Given the description of an element on the screen output the (x, y) to click on. 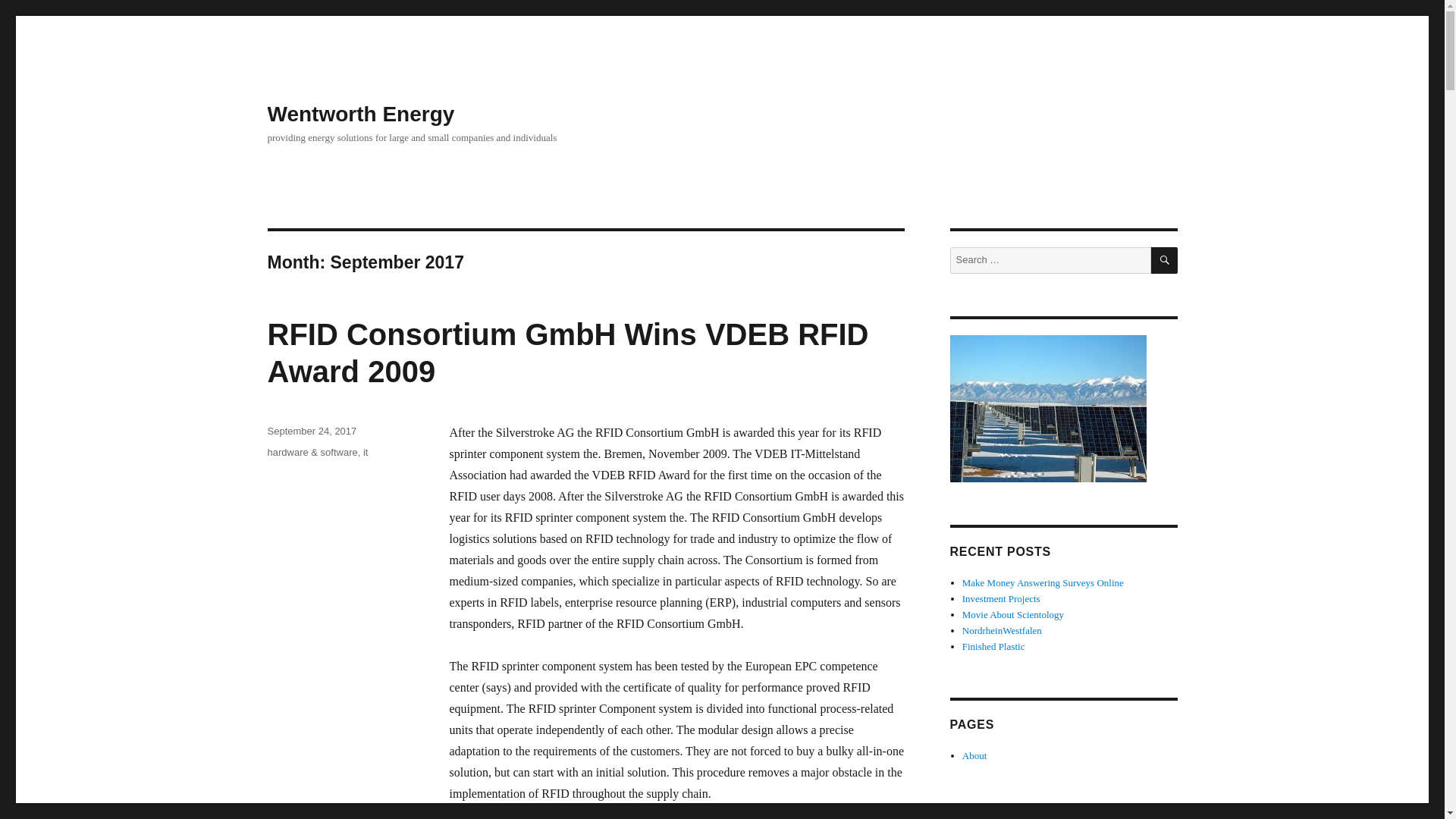
RFID Consortium GmbH Wins VDEB RFID Award 2009 (566, 352)
September 24, 2017 (311, 430)
Wentworth Energy (360, 114)
